Given the description of an element on the screen output the (x, y) to click on. 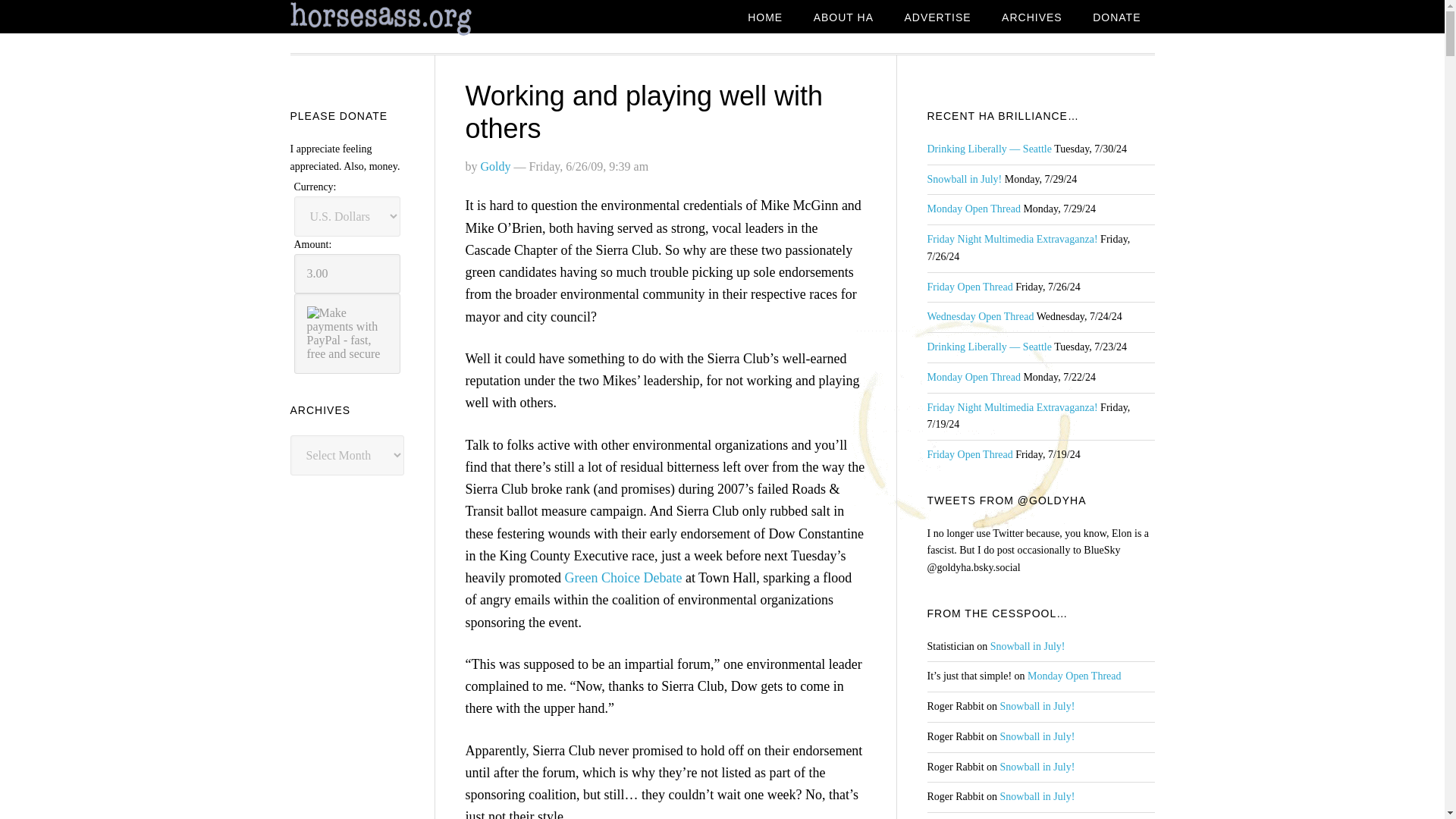
DONATE (1116, 17)
Goldy (495, 165)
ADVERTISE (936, 17)
ABOUT HA (842, 17)
The amount you wish to donate (347, 273)
3.00 (347, 273)
HORSESASS.ORG (410, 19)
Green Choice Debate (622, 577)
ARCHIVES (1031, 17)
HOME (764, 17)
